Given the description of an element on the screen output the (x, y) to click on. 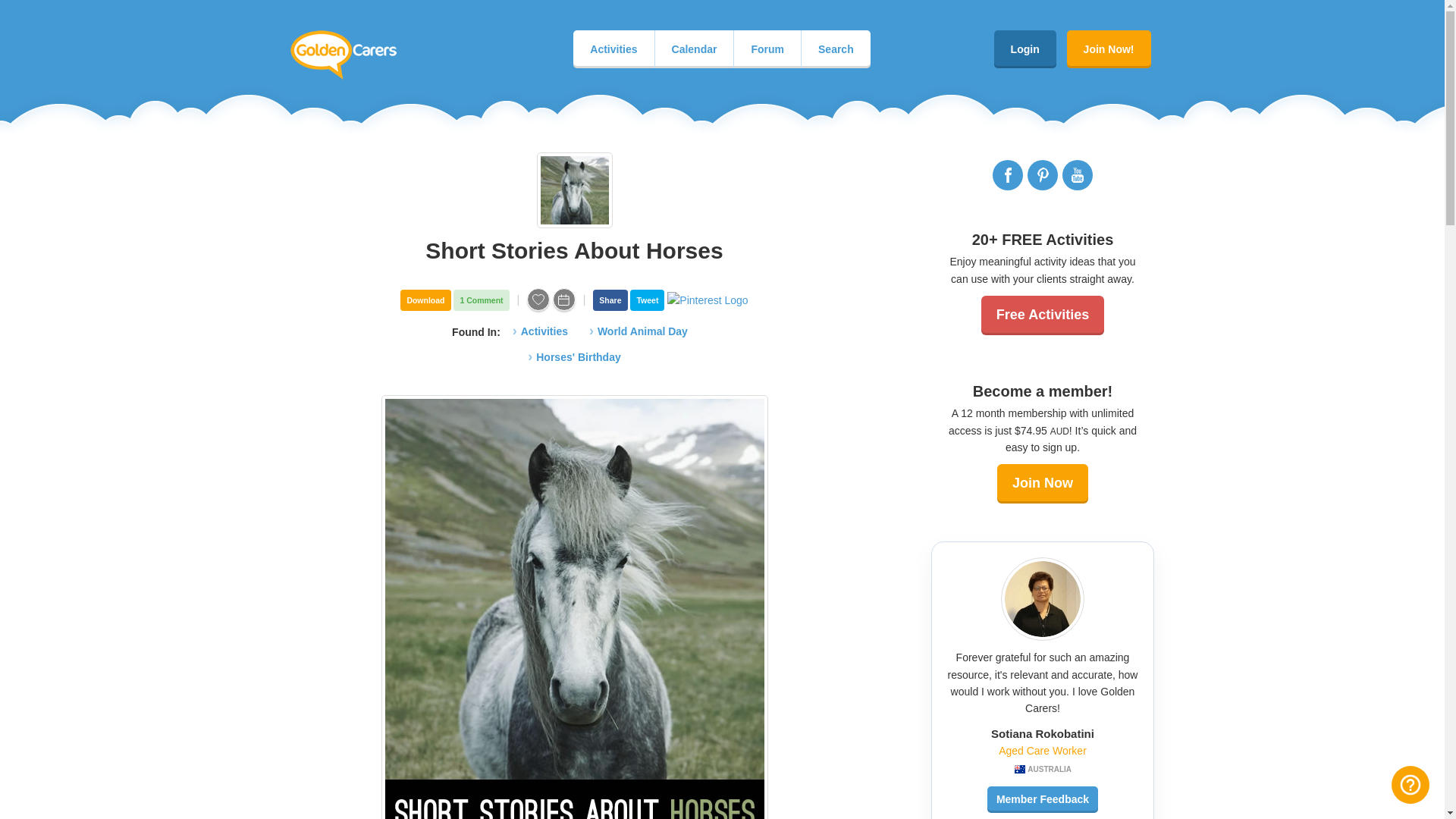
Forum (767, 48)
Connect with us on Pinterest (1042, 174)
1 Comment (480, 300)
Member Feedback (1042, 799)
Login (1025, 48)
Golden Carers (342, 54)
Share (609, 300)
Activities (613, 48)
Golden Carers Testimonials (1042, 799)
Calendar (695, 48)
Tweet (646, 300)
Join Now! (1109, 48)
1 Comment (480, 300)
Join Now (1042, 483)
Golden Carers (342, 54)
